Given the description of an element on the screen output the (x, y) to click on. 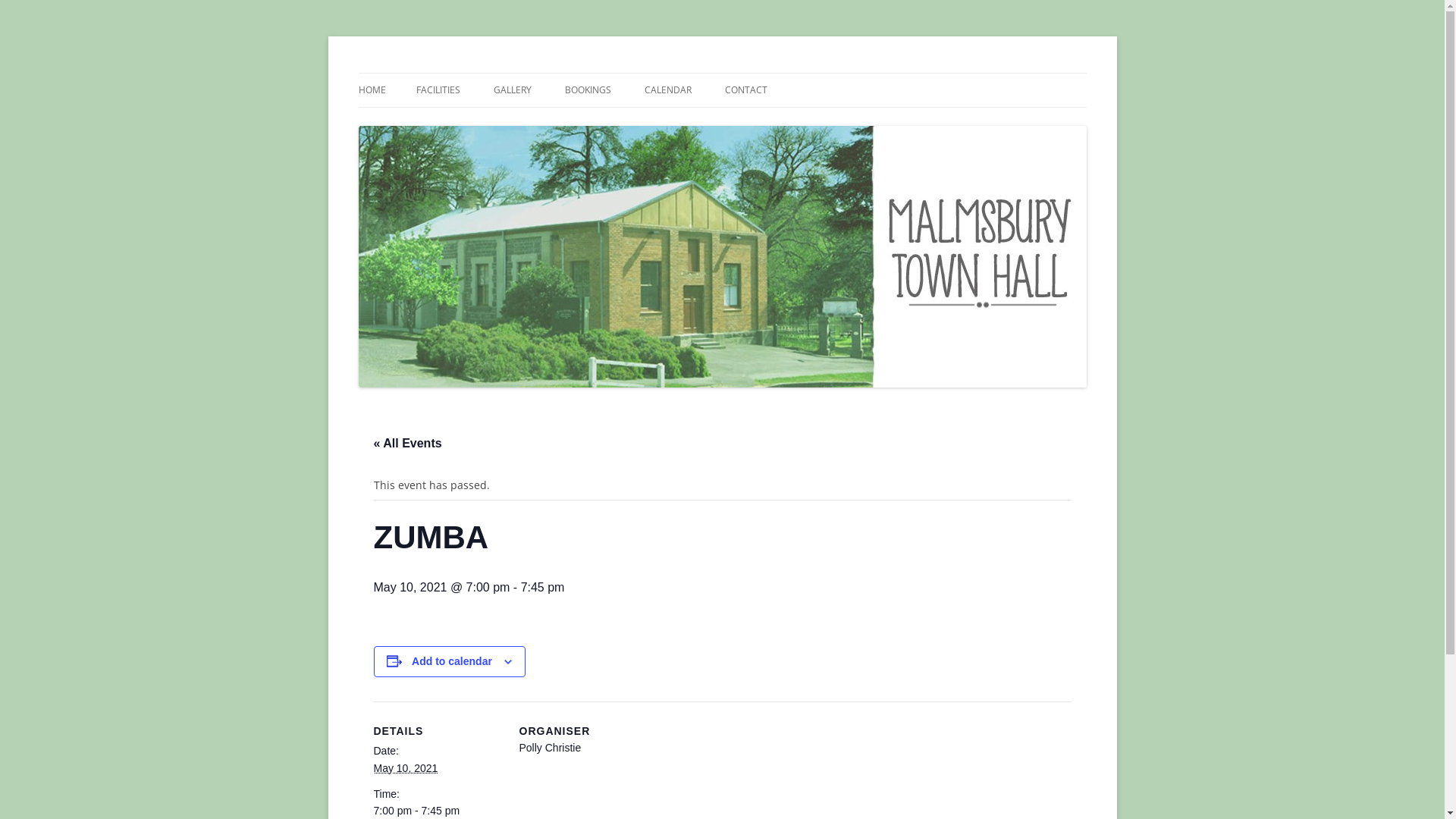
Skip to content Element type: text (721, 72)
Malmsbury Town Hall Element type: text (465, 72)
GALLERY Element type: text (511, 89)
HOME Element type: text (371, 89)
CONTACT Element type: text (745, 89)
BOOKINGS Element type: text (587, 89)
FACILITIES Element type: text (437, 89)
Add to calendar Element type: text (451, 661)
CALENDAR Element type: text (667, 89)
HOW TO MAKE A BOOKING Element type: text (639, 122)
